Given the description of an element on the screen output the (x, y) to click on. 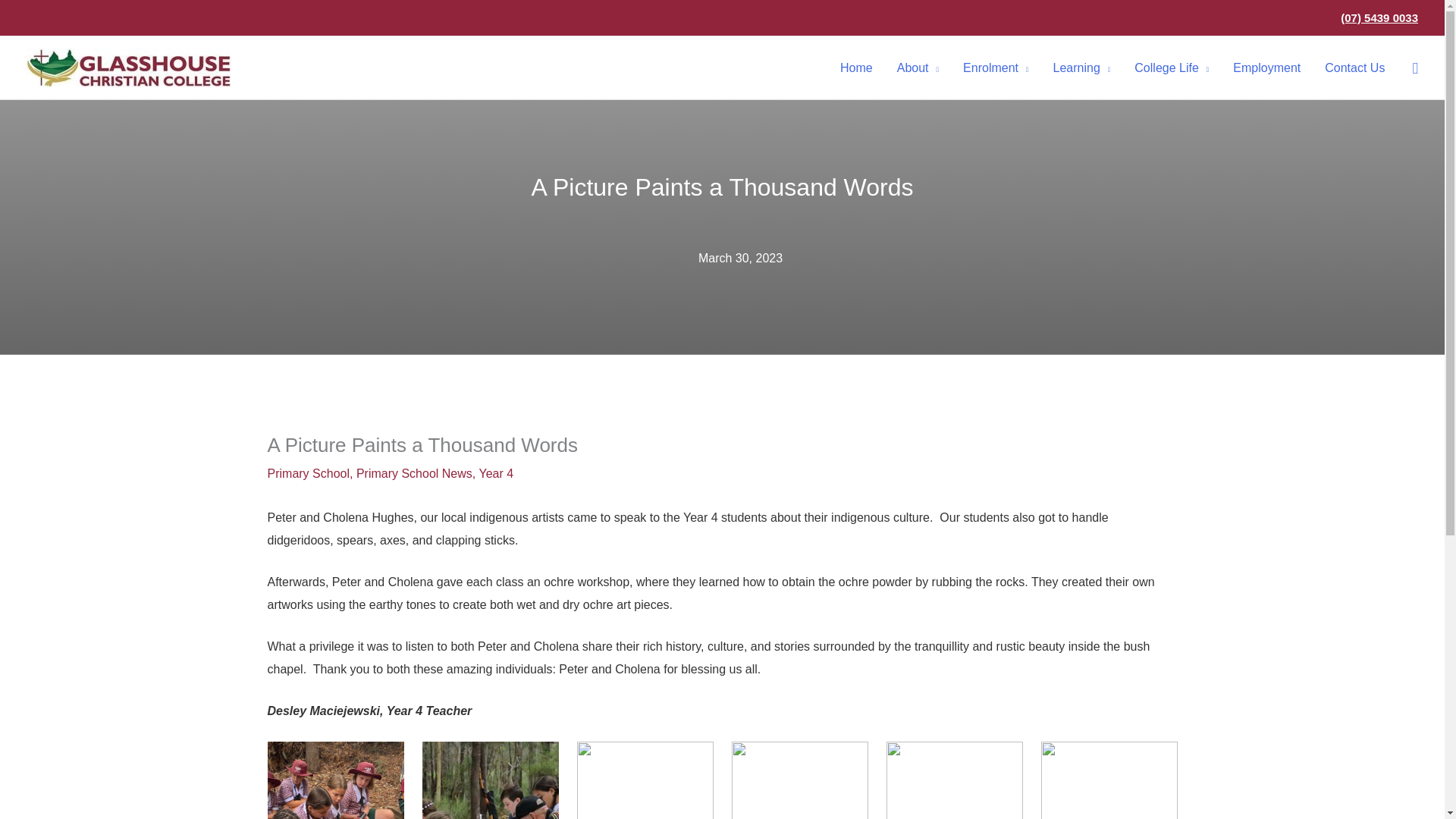
Home (856, 67)
About (917, 67)
College Life (1171, 67)
Learning (1081, 67)
Enrolment (995, 67)
